Given the description of an element on the screen output the (x, y) to click on. 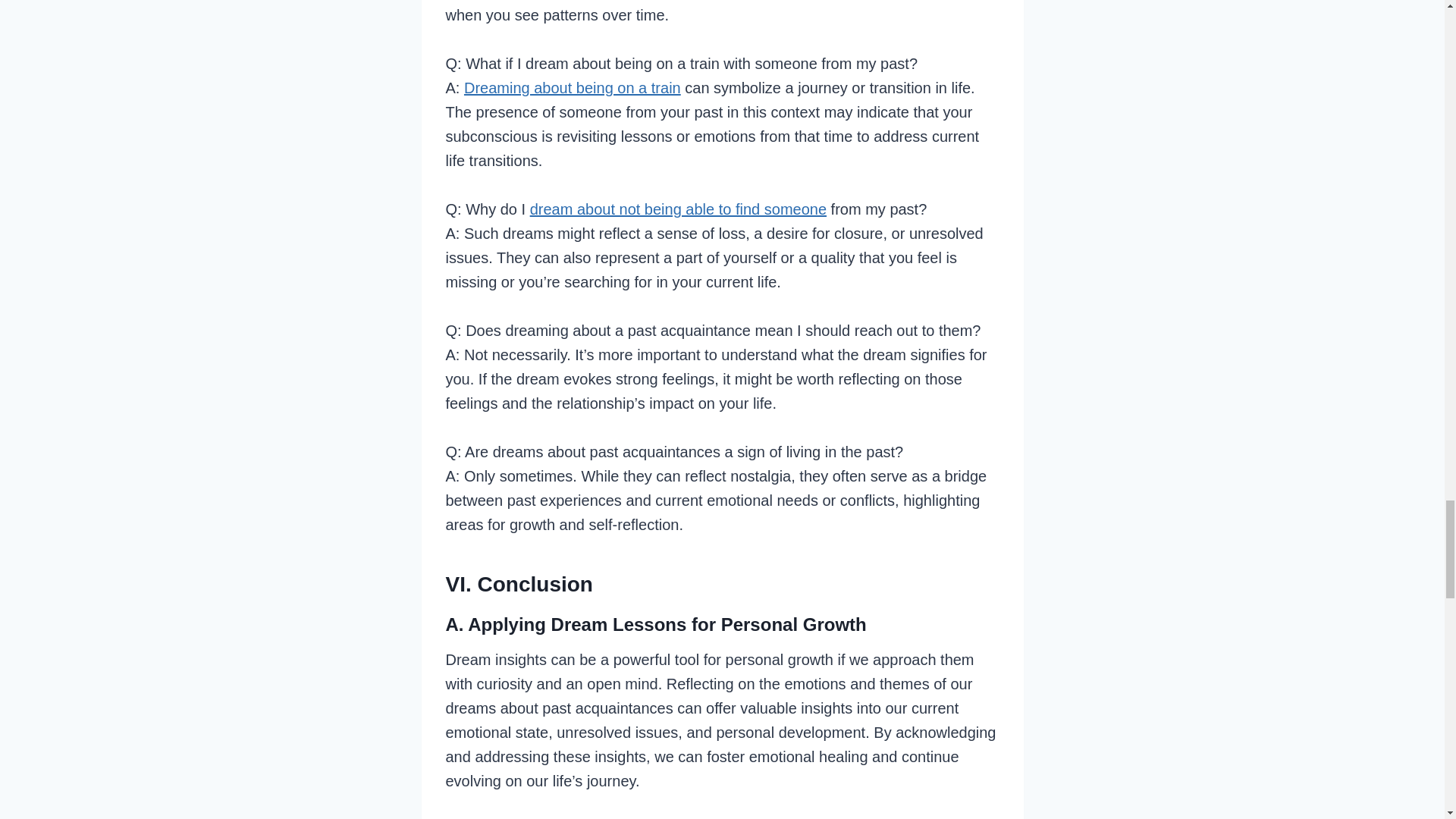
dream about not being able to find someone (678, 208)
Dreaming about being on a train (572, 87)
